Given the description of an element on the screen output the (x, y) to click on. 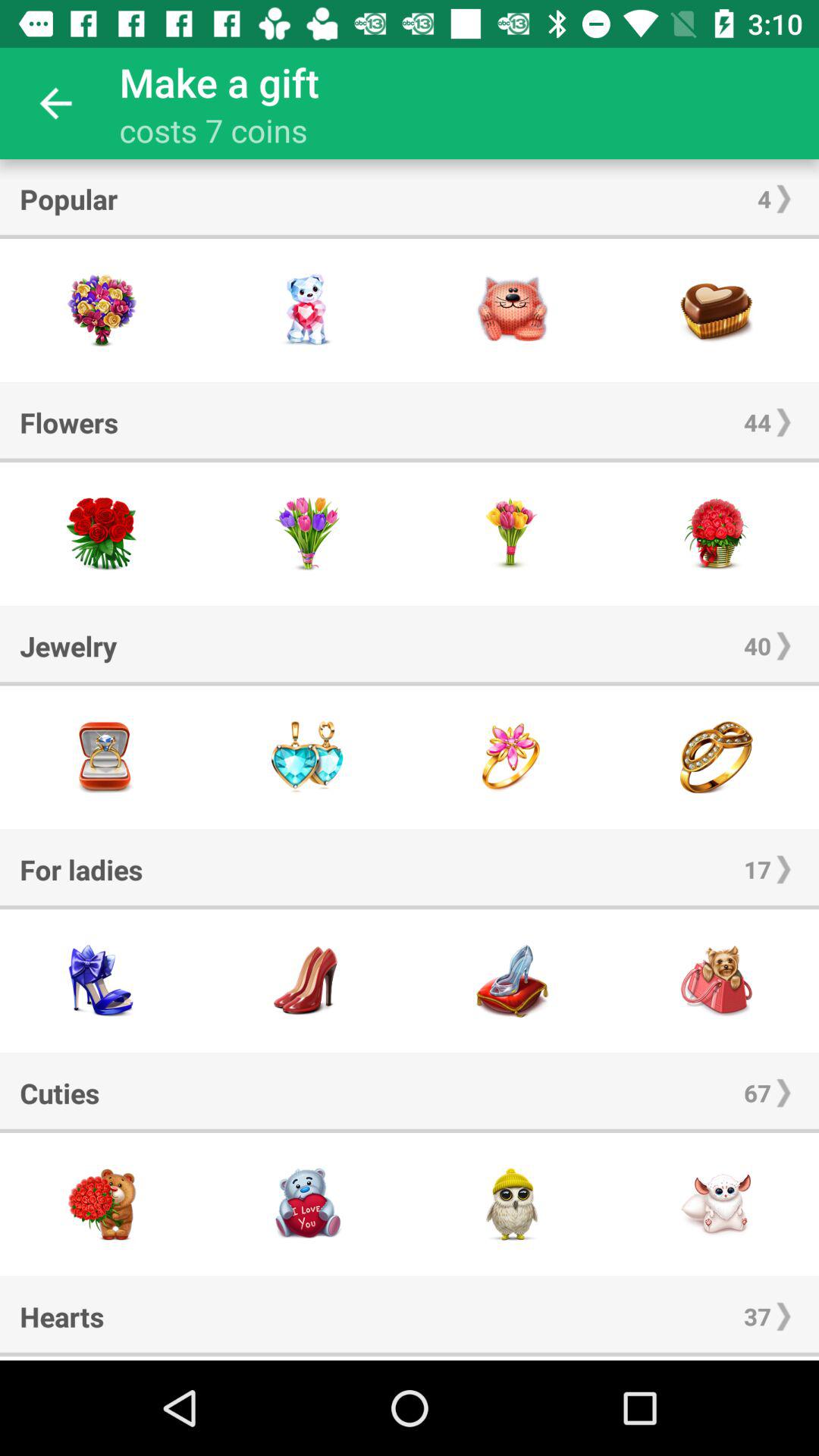
turn on the icon next to make a gift app (55, 103)
